Given the description of an element on the screen output the (x, y) to click on. 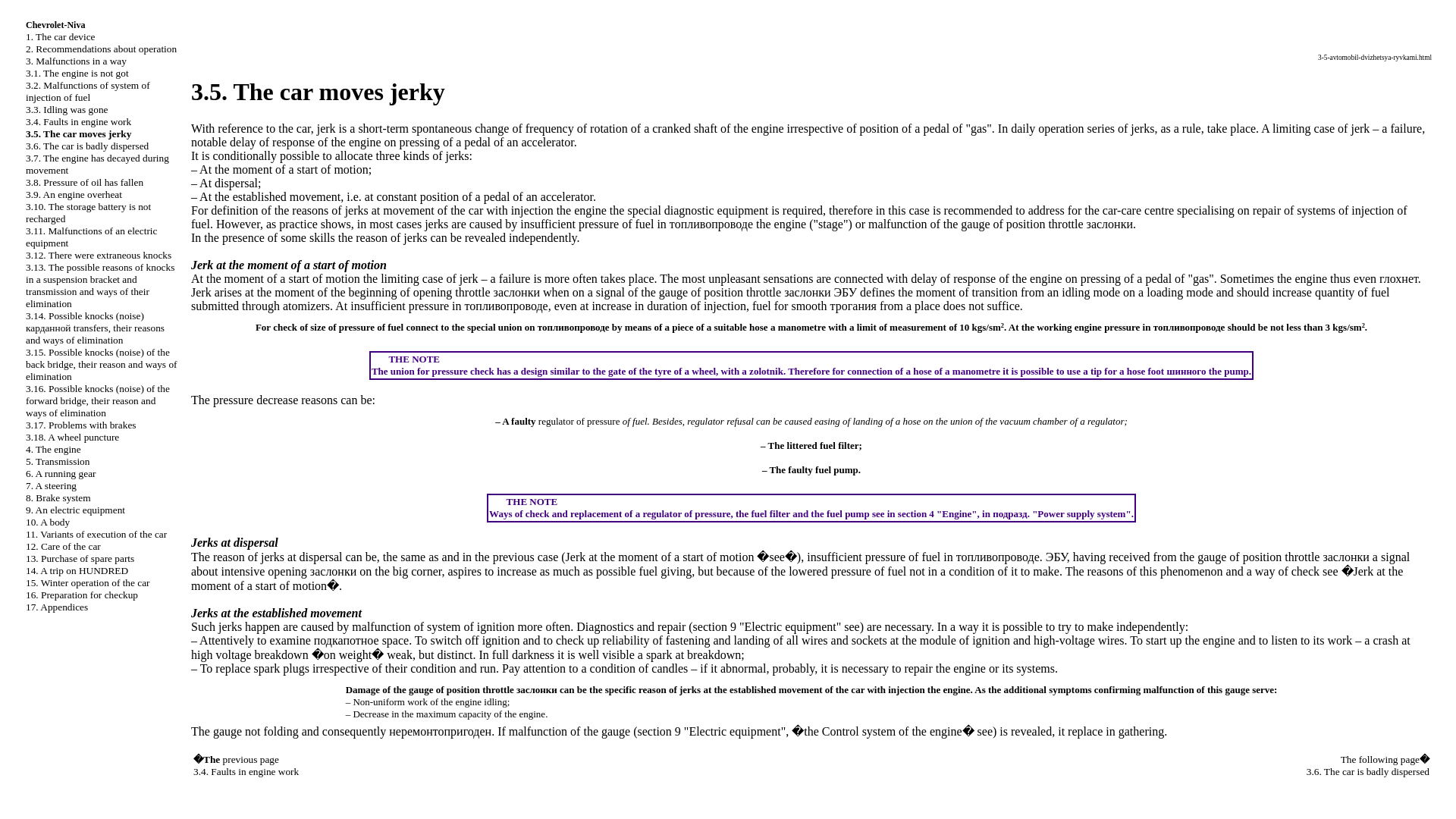
3.11. Malfunctions of an electric equipment (91, 236)
4. The engine (53, 449)
14. A trip on HUNDRED (77, 570)
16. Preparation for checkup (82, 594)
3.3. Idling was gone (66, 109)
11. Variants of execution of the car (96, 533)
2. Recommendations about operation (101, 48)
3. Malfunctions in a way (76, 60)
3.1. The engine is not got (77, 72)
13. Purchase of spare parts (79, 558)
3.9. An engine overheat (74, 194)
9. An electric equipment (75, 509)
3.7. The engine has decayed during movement (97, 164)
"Electric equipment" (735, 730)
